Given the description of an element on the screen output the (x, y) to click on. 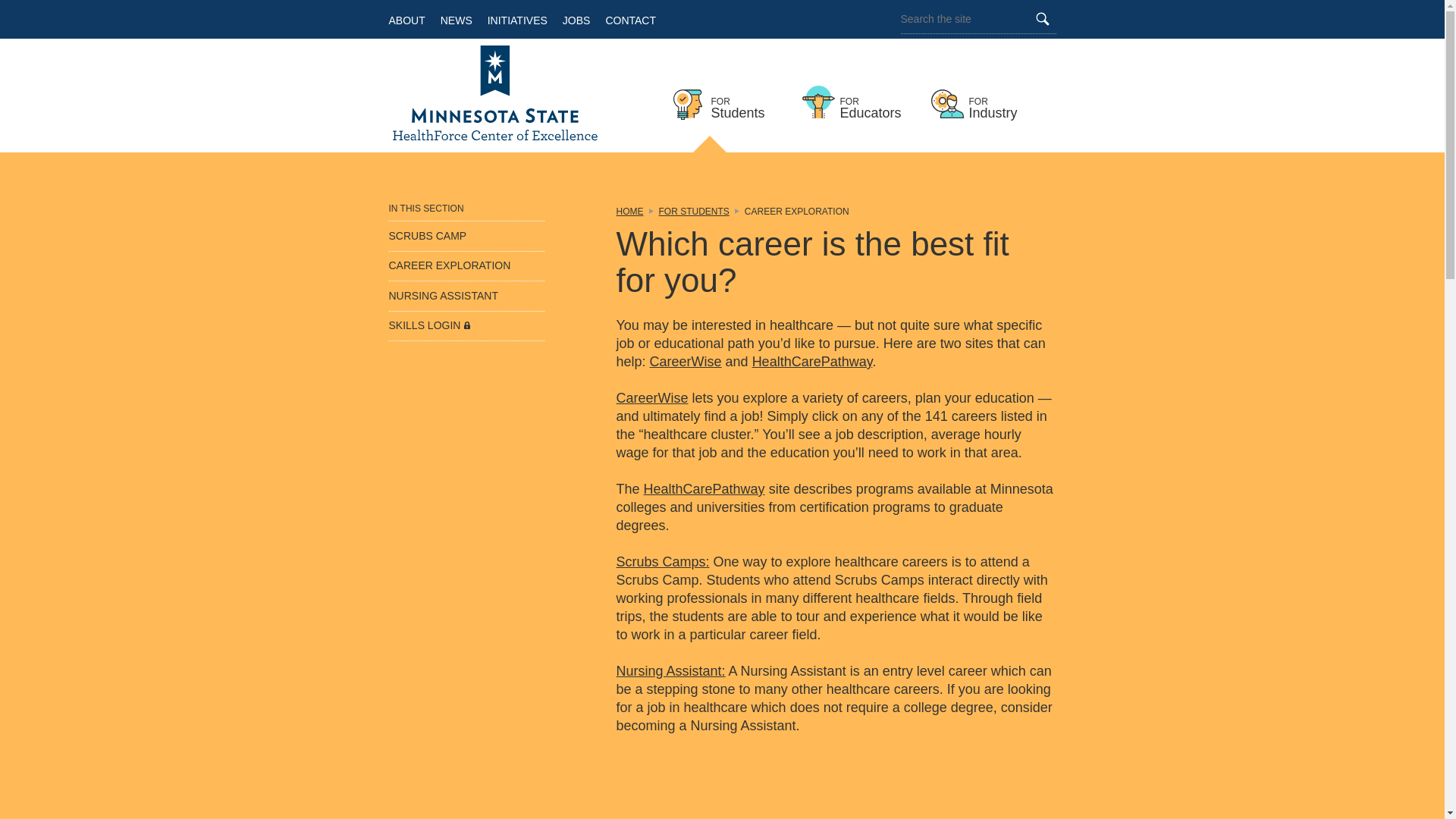
JOBS (576, 18)
GO (1041, 18)
Healthforce Minnesota (493, 95)
SCRUBS CAMP (426, 235)
NURSING ASSISTANT (858, 98)
SKILLS LOGIN (729, 98)
INITIATIVES (442, 295)
GO (429, 325)
Scrubs Camps: (517, 18)
HOME (1041, 18)
HealthCarePathway (662, 561)
CareerWise (629, 211)
GO (812, 361)
